Given the description of an element on the screen output the (x, y) to click on. 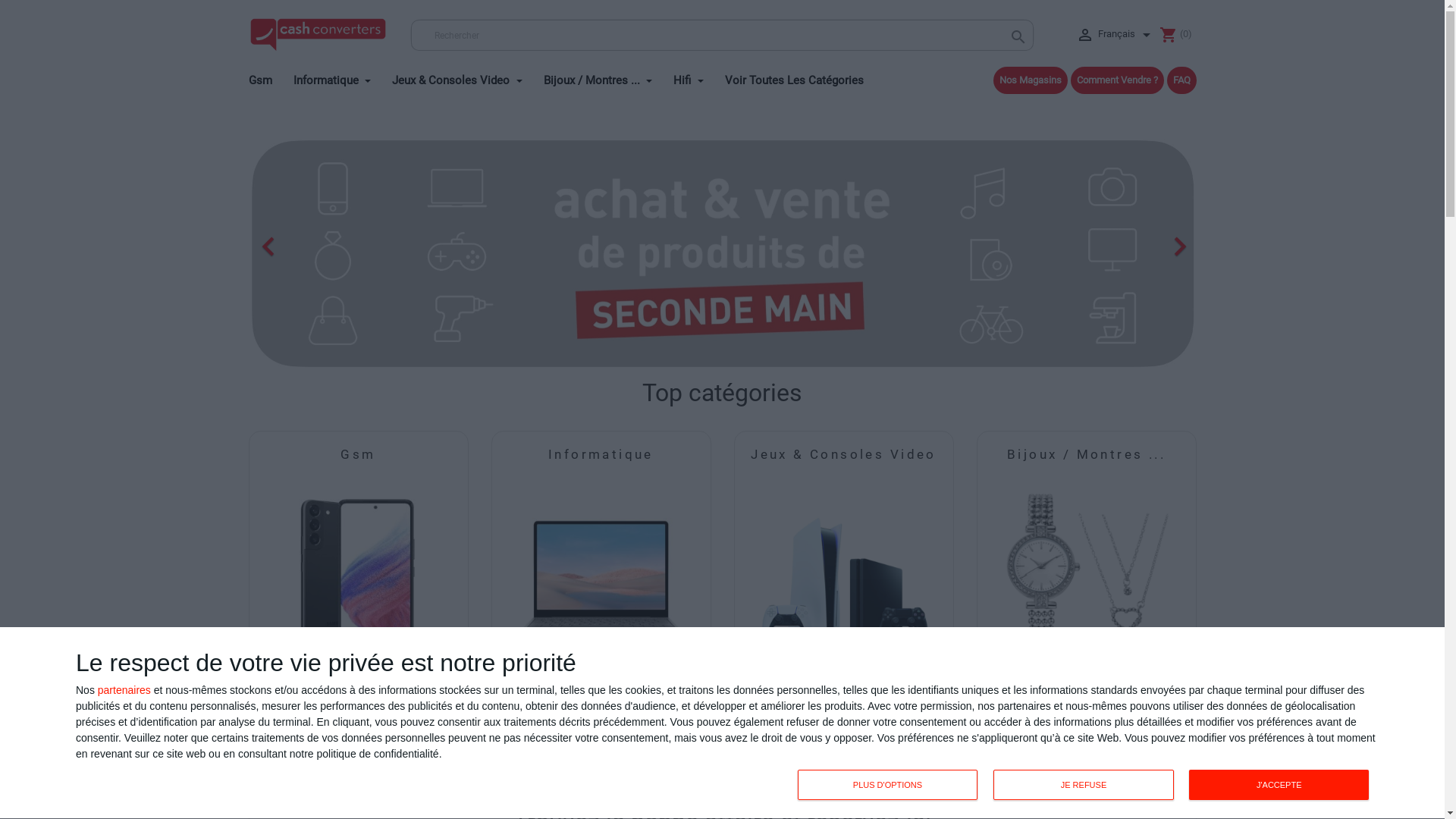
Gsm Element type: text (269, 76)
Gsm Element type: text (357, 453)
Nos Magasins Element type: text (1030, 80)
Jeux & Consoles Video Element type: text (466, 76)
FAQ Element type: text (1180, 80)
Informatique Element type: text (600, 453)
PLUS D'OPTIONS Element type: text (887, 784)
Jeux & Consoles Video Element type: text (842, 453)
Informatique Element type: text (340, 76)
JE REFUSE Element type: text (1083, 784)
Bijoux / Montres ... Element type: text (1086, 453)
Hifi Element type: text (697, 76)
Comment Vendre ? Element type: text (1117, 80)
partenaires Element type: text (123, 689)
J'ACCEPTE Element type: text (1278, 784)
Bijoux / Montres ... Element type: text (606, 76)
